Given the description of an element on the screen output the (x, y) to click on. 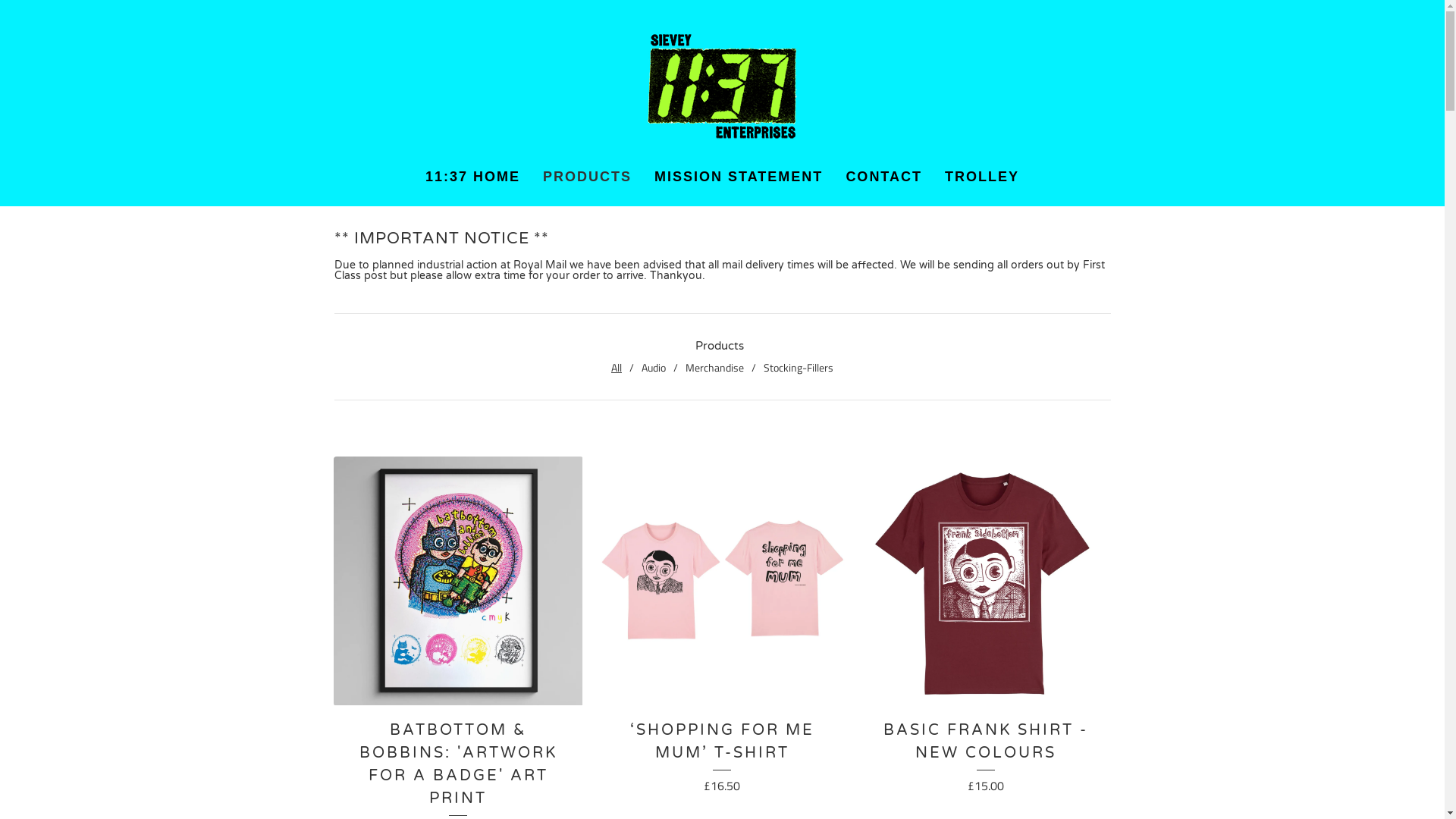
All Element type: text (616, 366)
PRODUCTS Element type: text (587, 176)
MISSION STATEMENT Element type: text (738, 176)
CONTACT Element type: text (883, 176)
Merchandise Element type: text (714, 366)
11:37 HOME Element type: text (472, 176)
Home Element type: hover (721, 85)
Stocking-Fillers Element type: text (798, 366)
TROLLEY Element type: text (981, 176)
Audio Element type: text (653, 366)
